Given the description of an element on the screen output the (x, y) to click on. 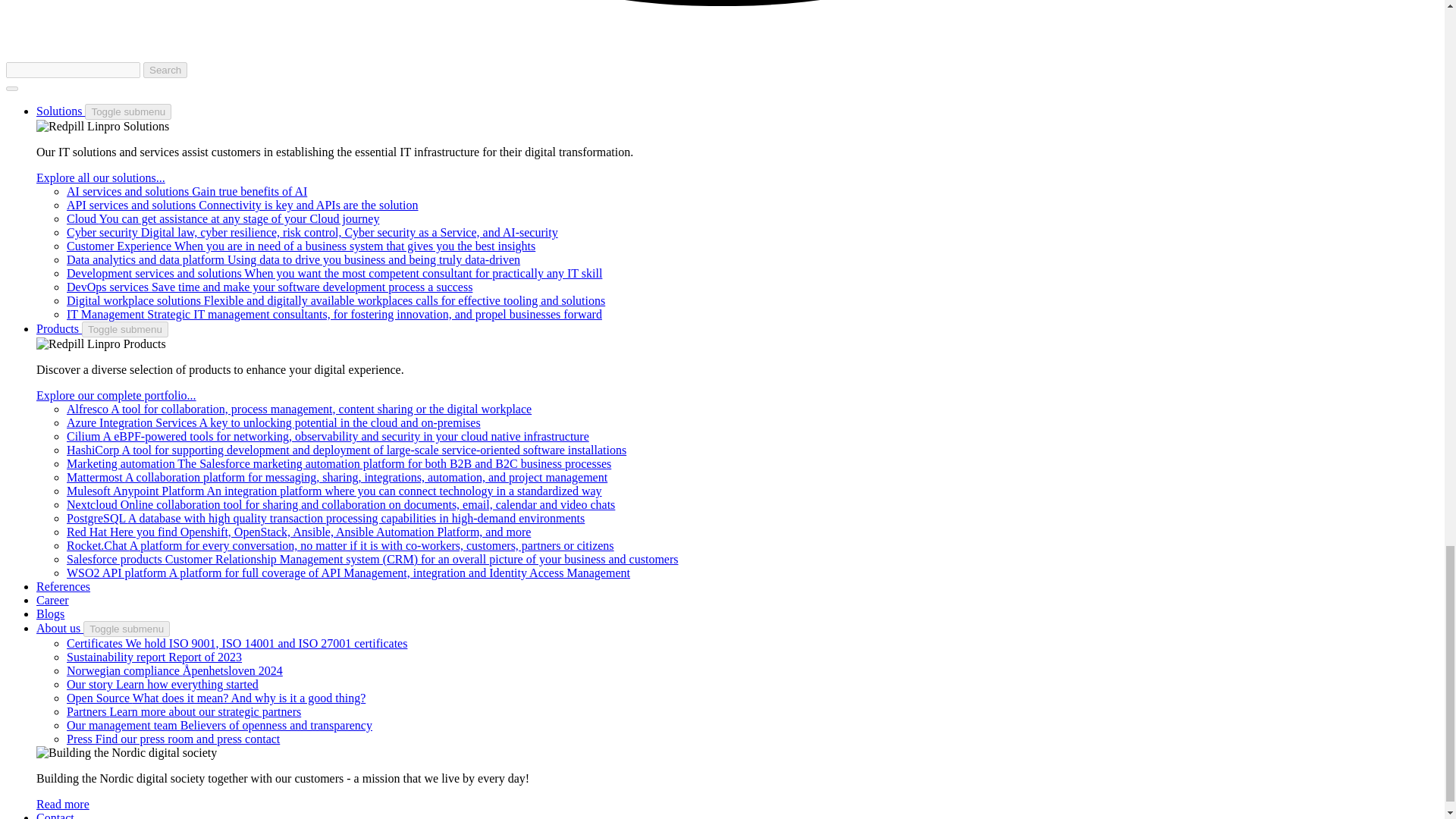
A key to unlocking potential in the cloud and on-premises (273, 422)
Connectivity is key and APIs are the solution (242, 205)
Using data to drive you business and being truly data-driven (292, 259)
Search (164, 69)
